Given the description of an element on the screen output the (x, y) to click on. 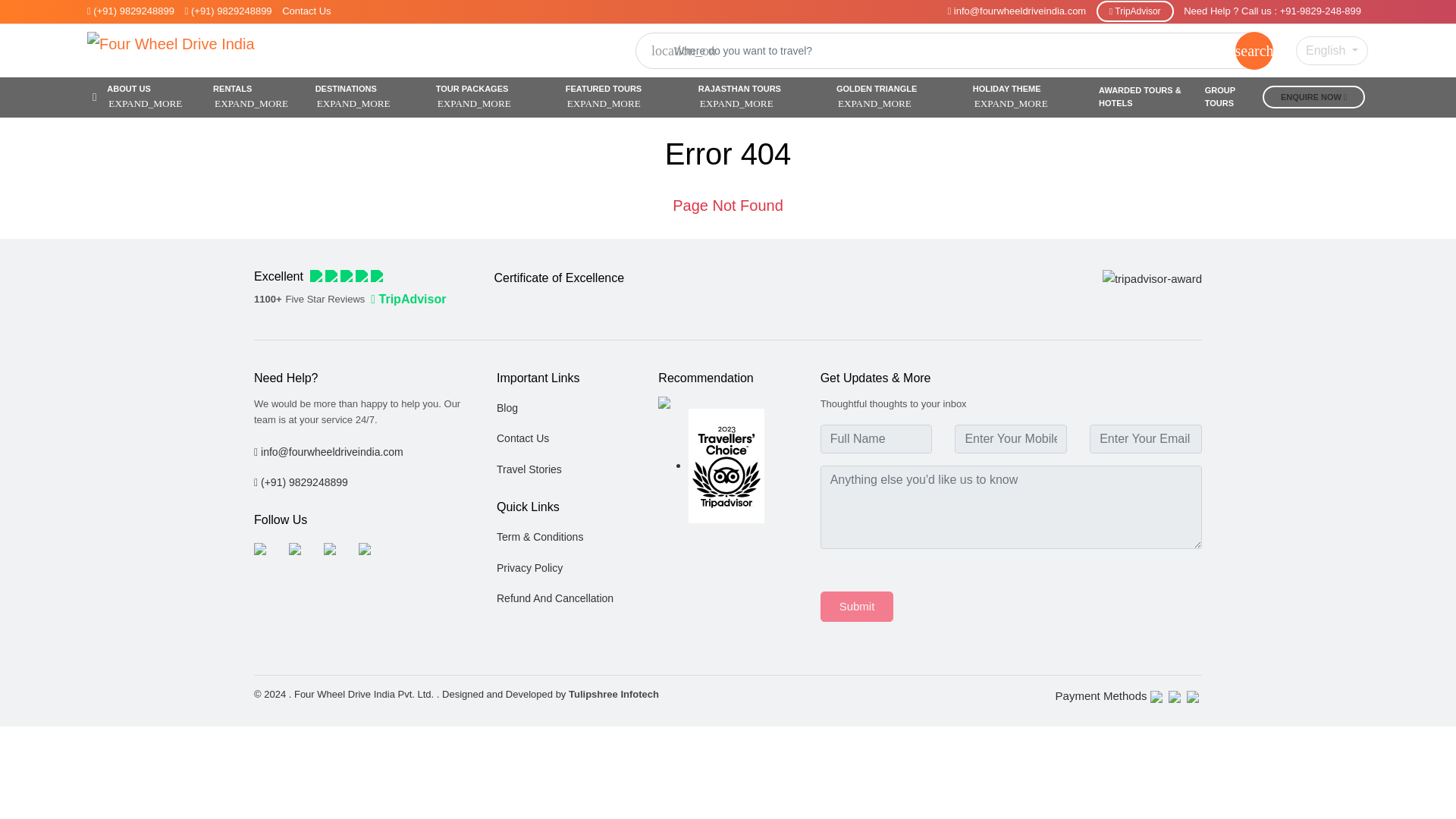
search (1253, 50)
English (1331, 50)
Contact Us (306, 10)
RENTALS (259, 96)
TripAdvisor (1134, 11)
ABOUT US (154, 96)
